Given the description of an element on the screen output the (x, y) to click on. 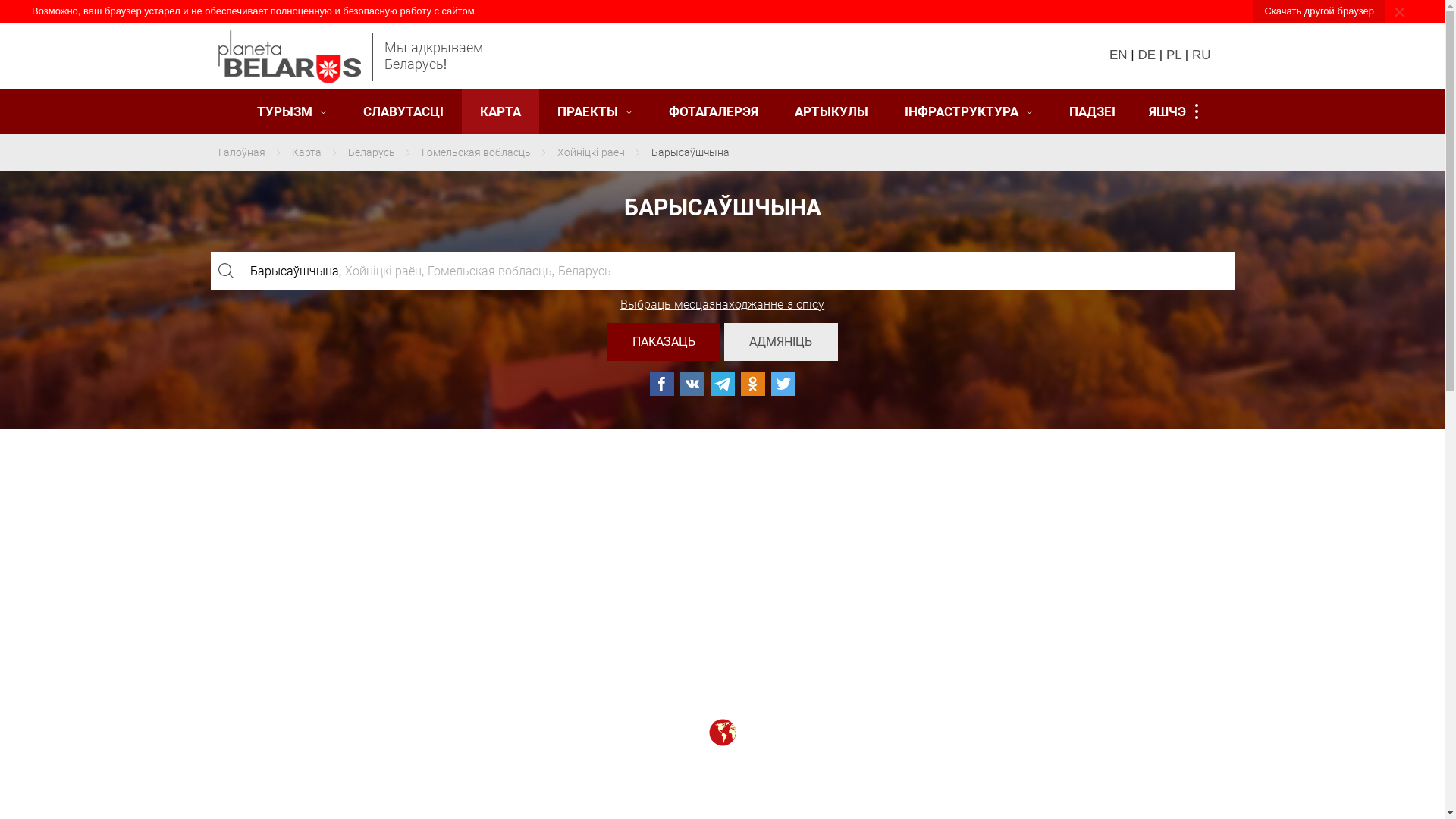
DE Element type: text (1146, 54)
EN Element type: text (1118, 54)
PL Element type: text (1173, 54)
RU Element type: text (1201, 54)
